Given the description of an element on the screen output the (x, y) to click on. 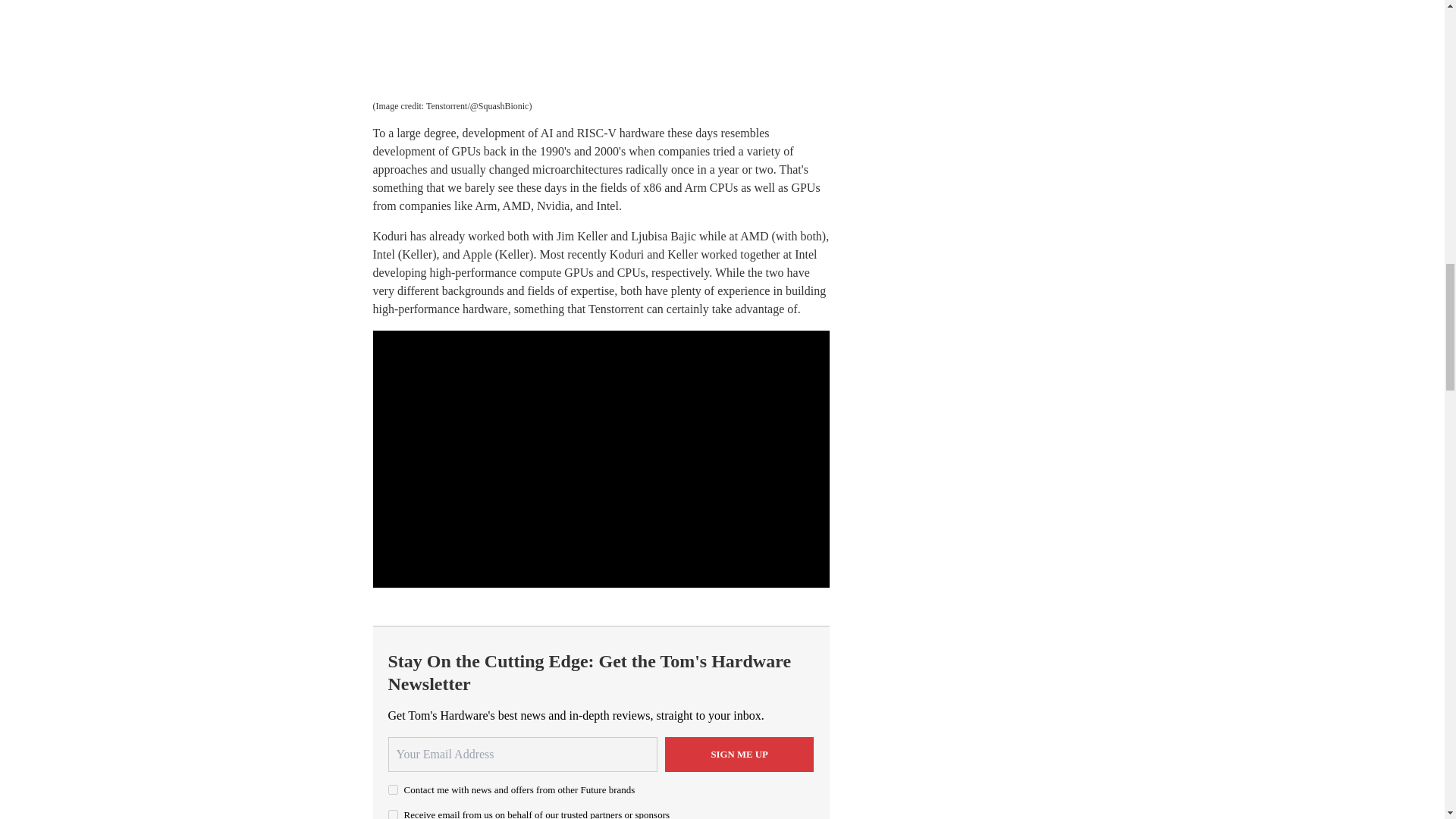
on (392, 814)
Sign me up (739, 754)
on (392, 789)
